Given the description of an element on the screen output the (x, y) to click on. 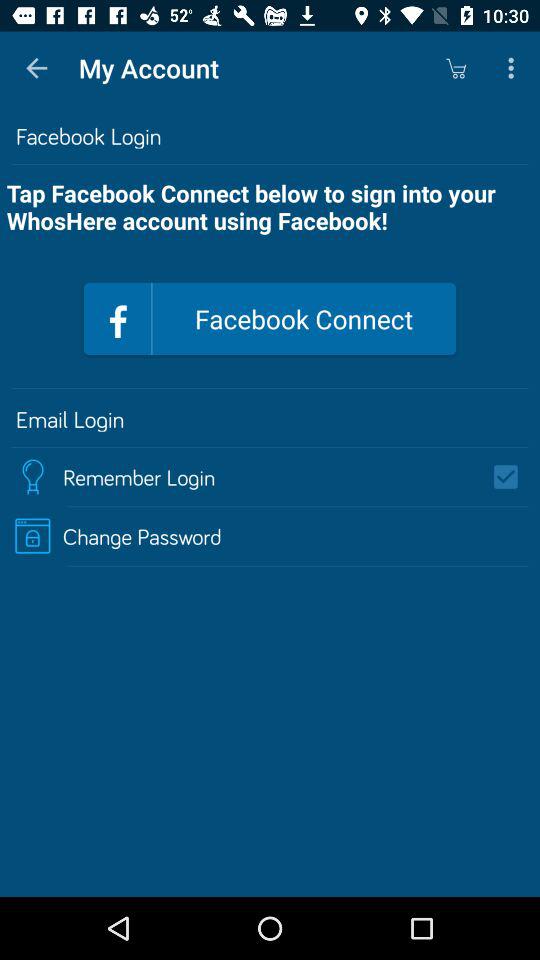
session reminder box (512, 477)
